Given the description of an element on the screen output the (x, y) to click on. 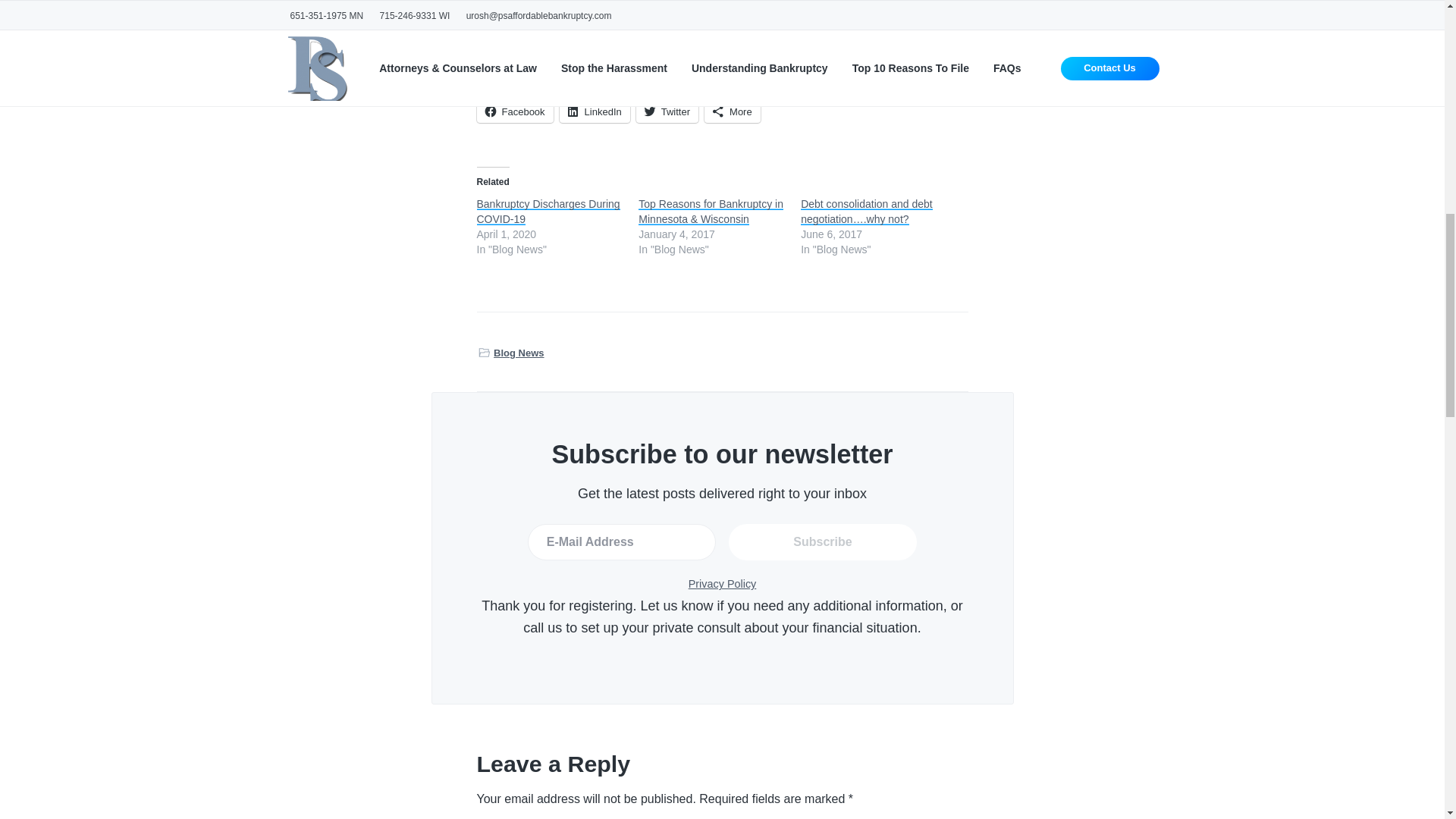
LinkedIn (594, 110)
More (732, 110)
Blog News (518, 352)
Twitter (667, 110)
Subscribe (823, 542)
Bankruptcy Discharges During COVID-19 (548, 211)
Bankruptcy Discharges During COVID-19 (548, 211)
Subscribe (823, 542)
Facebook (514, 110)
Click to share on Twitter (667, 110)
